Given the description of an element on the screen output the (x, y) to click on. 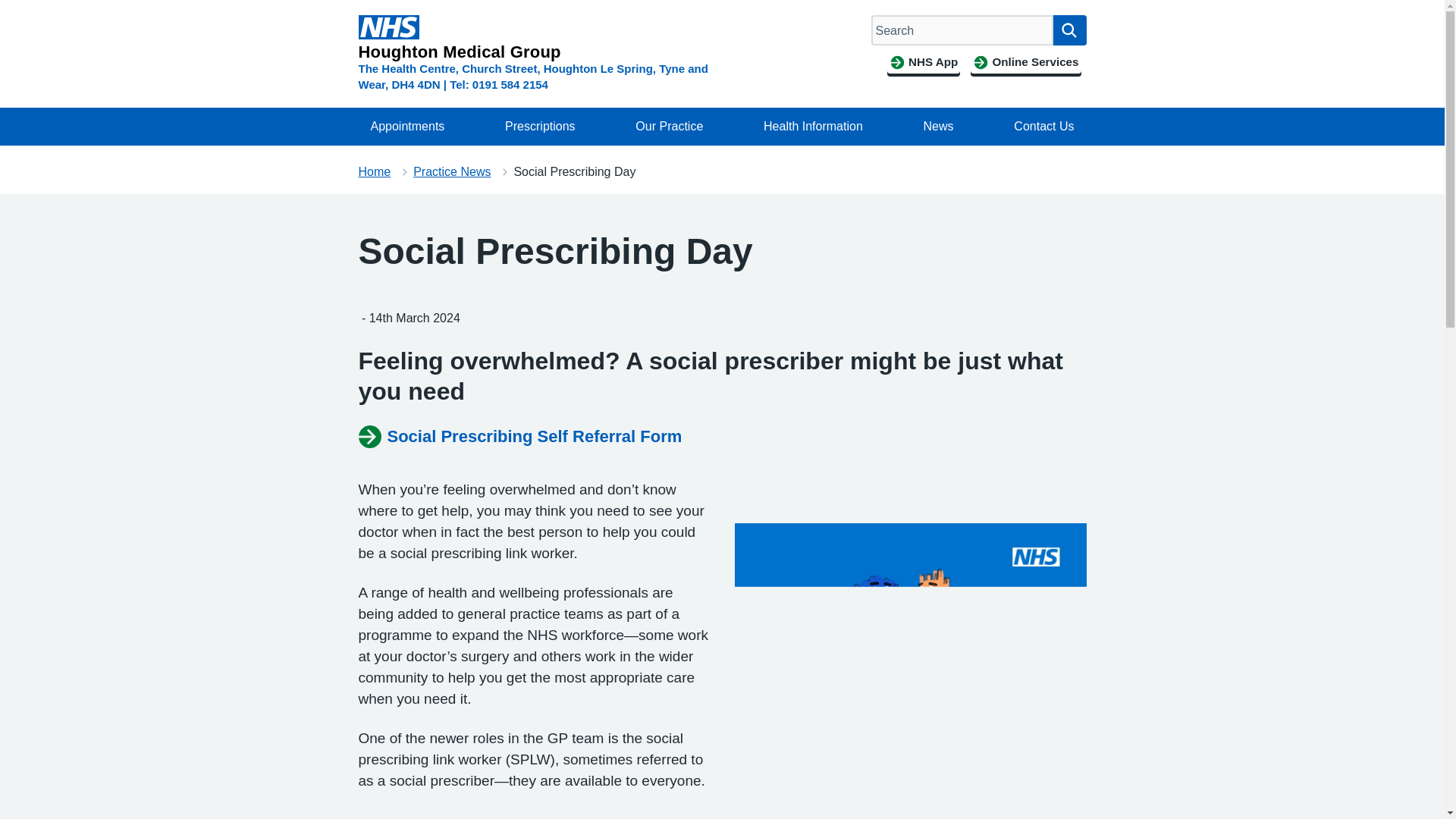
News (938, 126)
Practice News (451, 171)
Contact Us (1043, 126)
Appointments (407, 126)
Prescriptions (539, 126)
Home (374, 171)
NHS App (922, 61)
Our Practice (668, 126)
NHS Logo (388, 27)
Online Services (1025, 61)
Social Prescribing Self Referral Form (519, 436)
Search (1069, 30)
Health Information (813, 126)
